Given the description of an element on the screen output the (x, y) to click on. 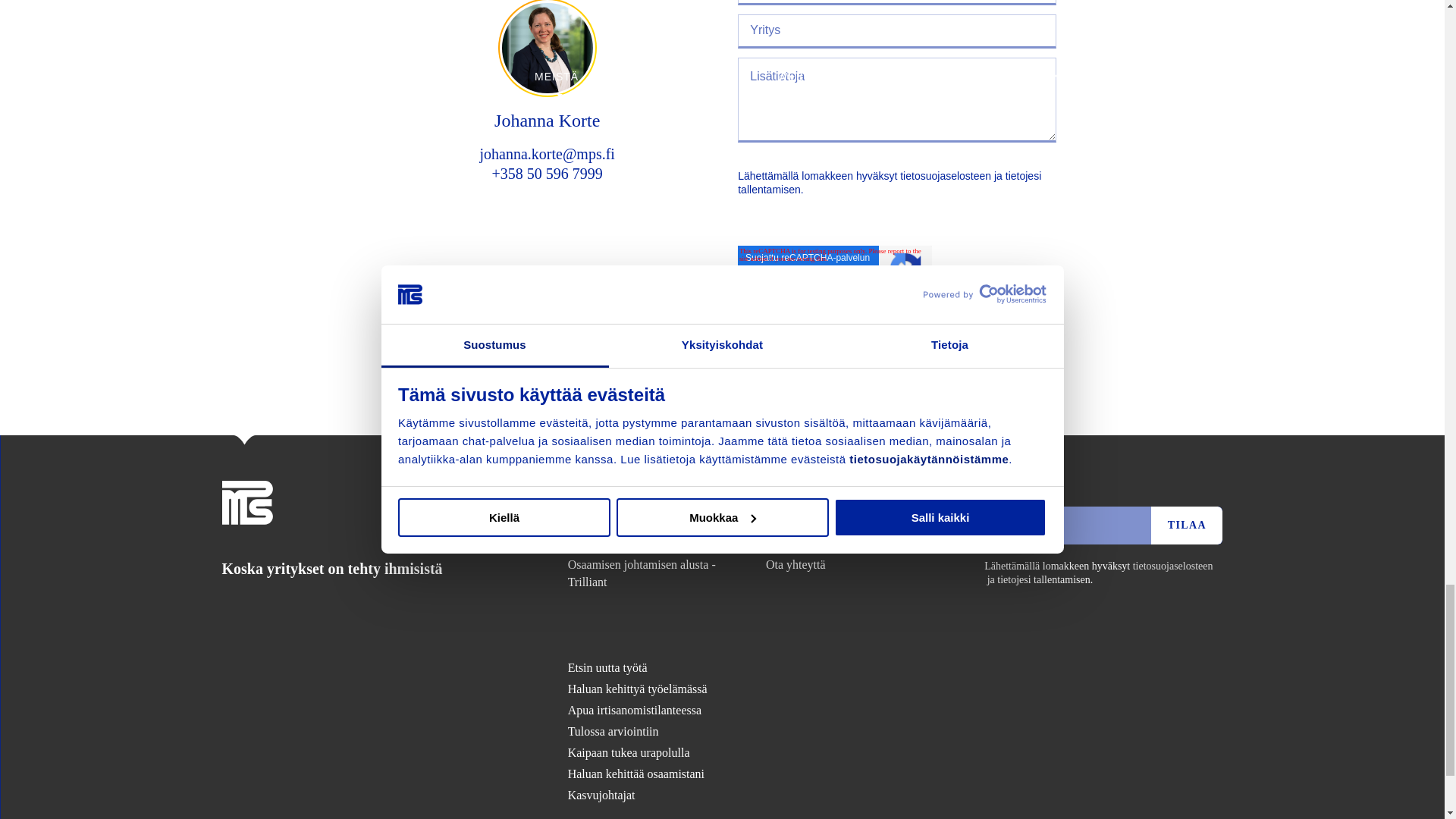
Tilaa (1187, 525)
